Given the description of an element on the screen output the (x, y) to click on. 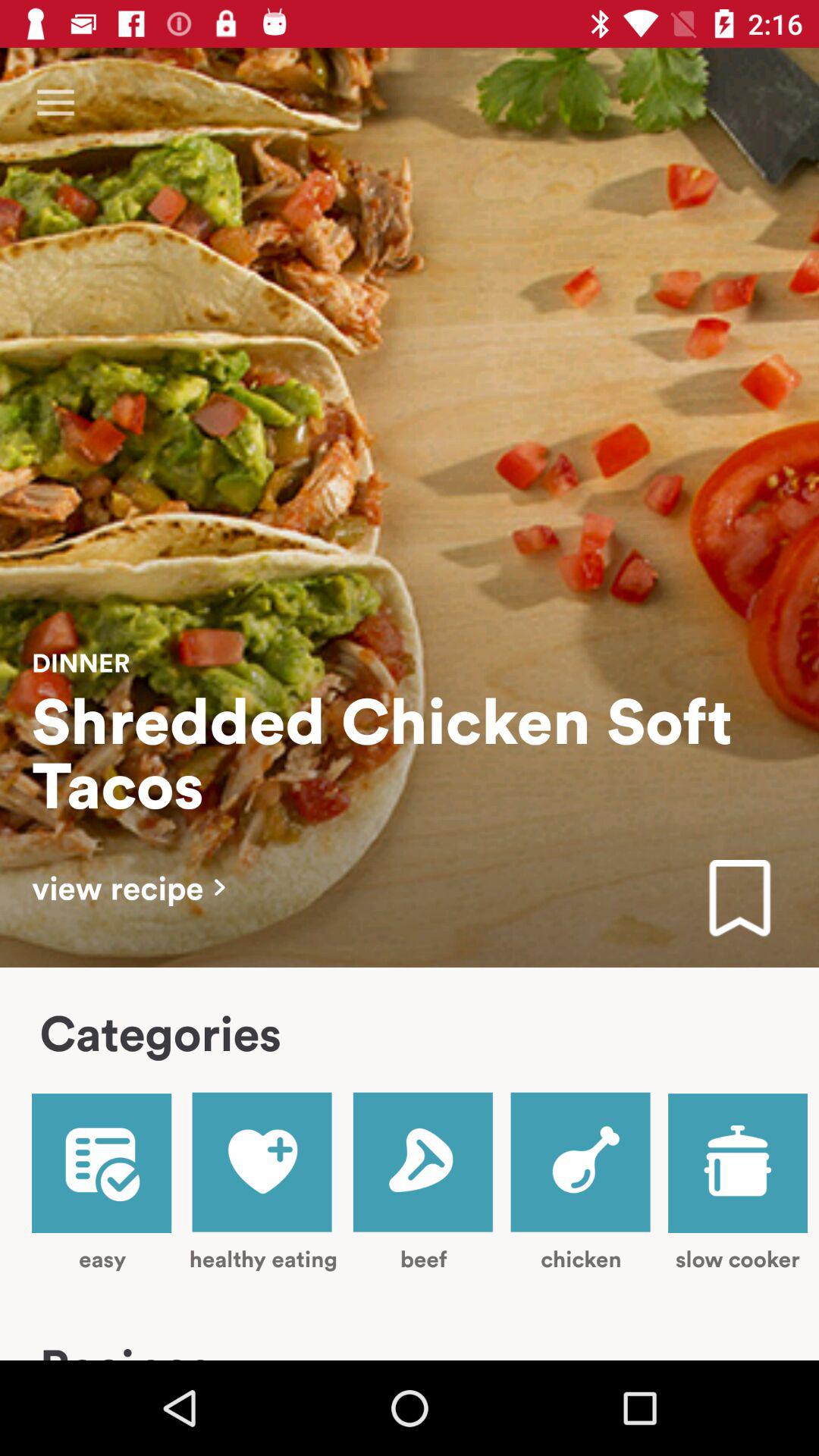
turn off the item above the dinner item (55, 103)
